Given the description of an element on the screen output the (x, y) to click on. 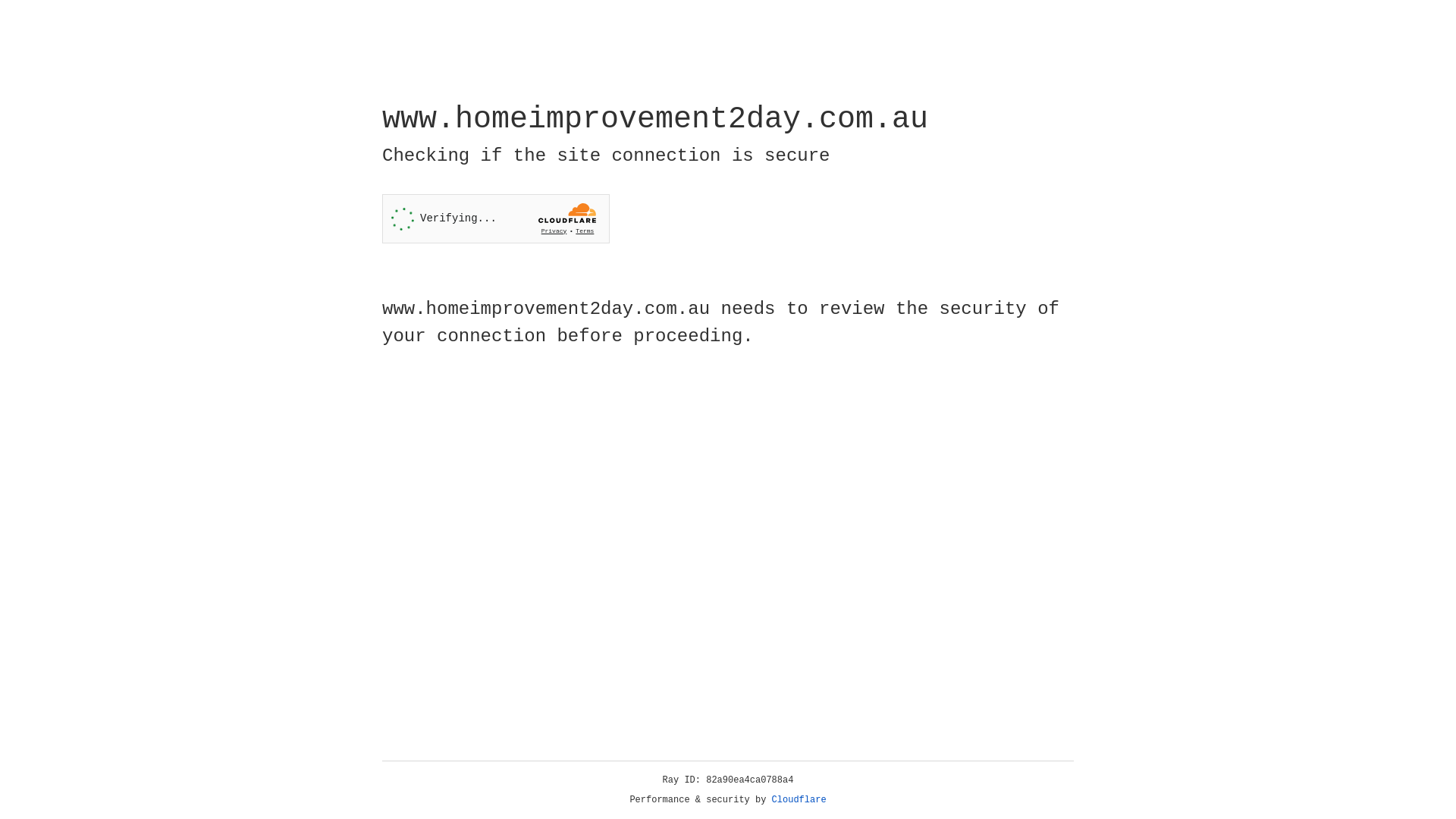
Cloudflare Element type: text (798, 799)
Widget containing a Cloudflare security challenge Element type: hover (495, 218)
